Given the description of an element on the screen output the (x, y) to click on. 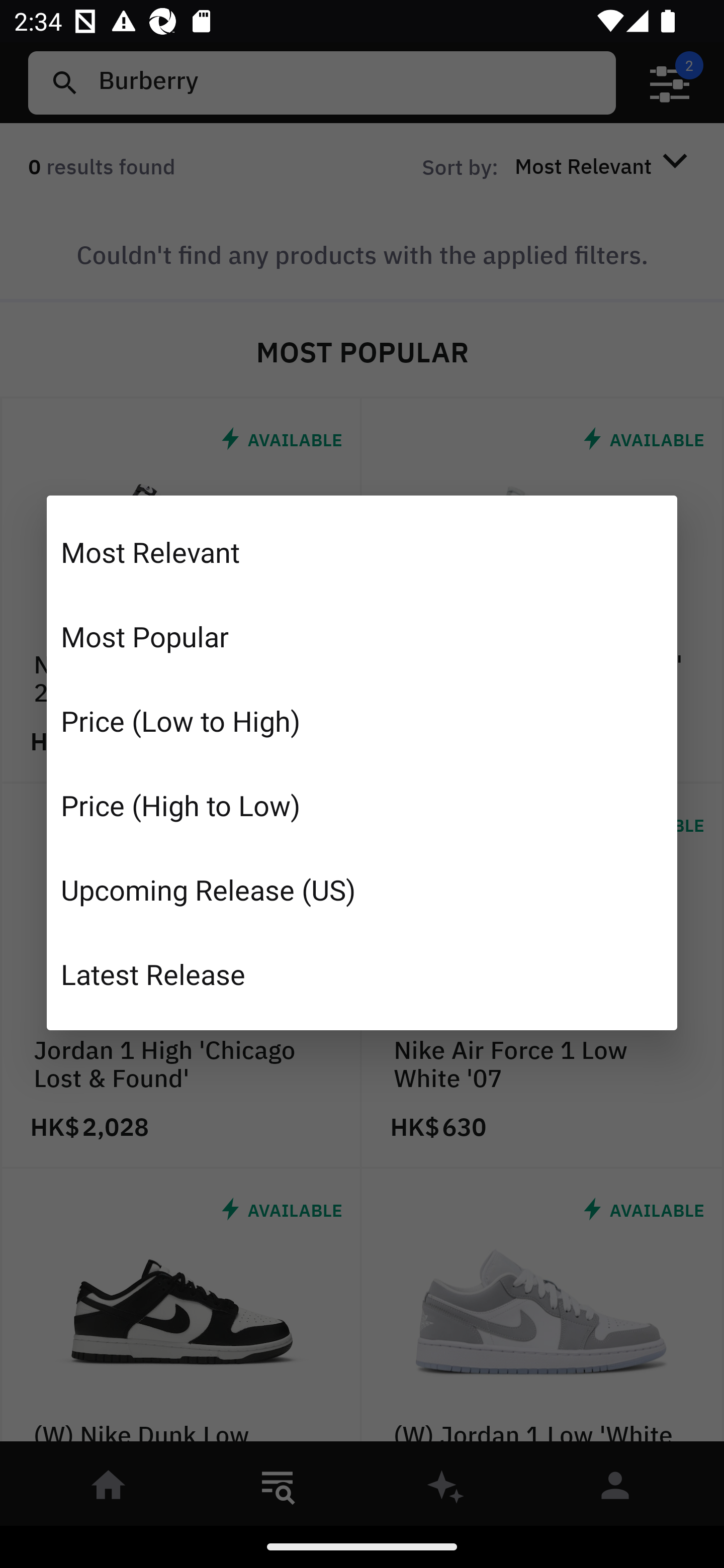
Most Relevant (361, 551)
Most Popular (361, 636)
Price (Low to High) (361, 720)
Price (High to Low) (361, 804)
Upcoming Release (US) (361, 888)
Latest Release (361, 973)
